Given the description of an element on the screen output the (x, y) to click on. 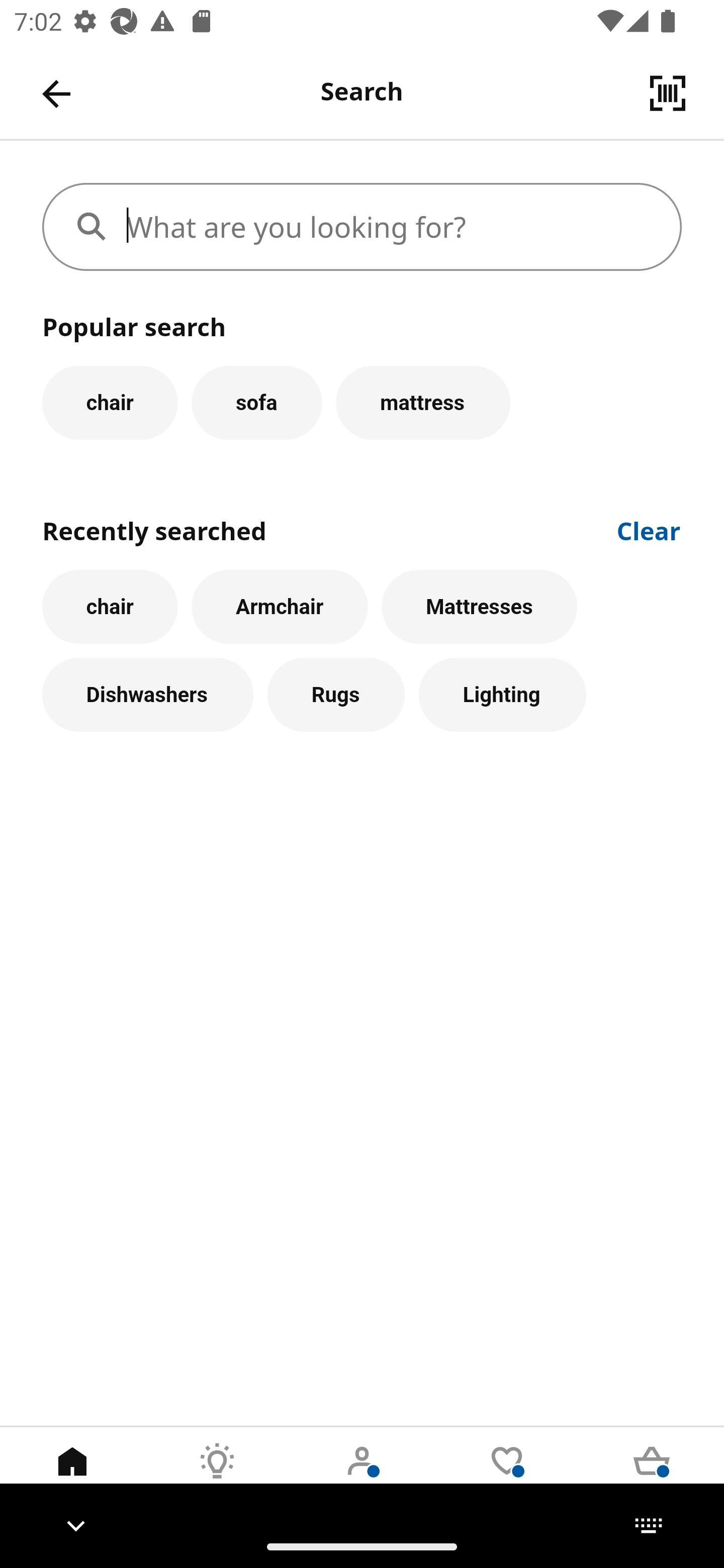
chair (109, 402)
sofa (256, 402)
mattress (423, 402)
Clear (649, 528)
chair (109, 606)
Armchair (279, 606)
Mattresses (479, 606)
Dishwashers (147, 695)
Rugs (335, 695)
Lighting (502, 695)
Home
Tab 1 of 5 (72, 1476)
Inspirations
Tab 2 of 5 (216, 1476)
User
Tab 3 of 5 (361, 1476)
Wishlist
Tab 4 of 5 (506, 1476)
Cart
Tab 5 of 5 (651, 1476)
